Given the description of an element on the screen output the (x, y) to click on. 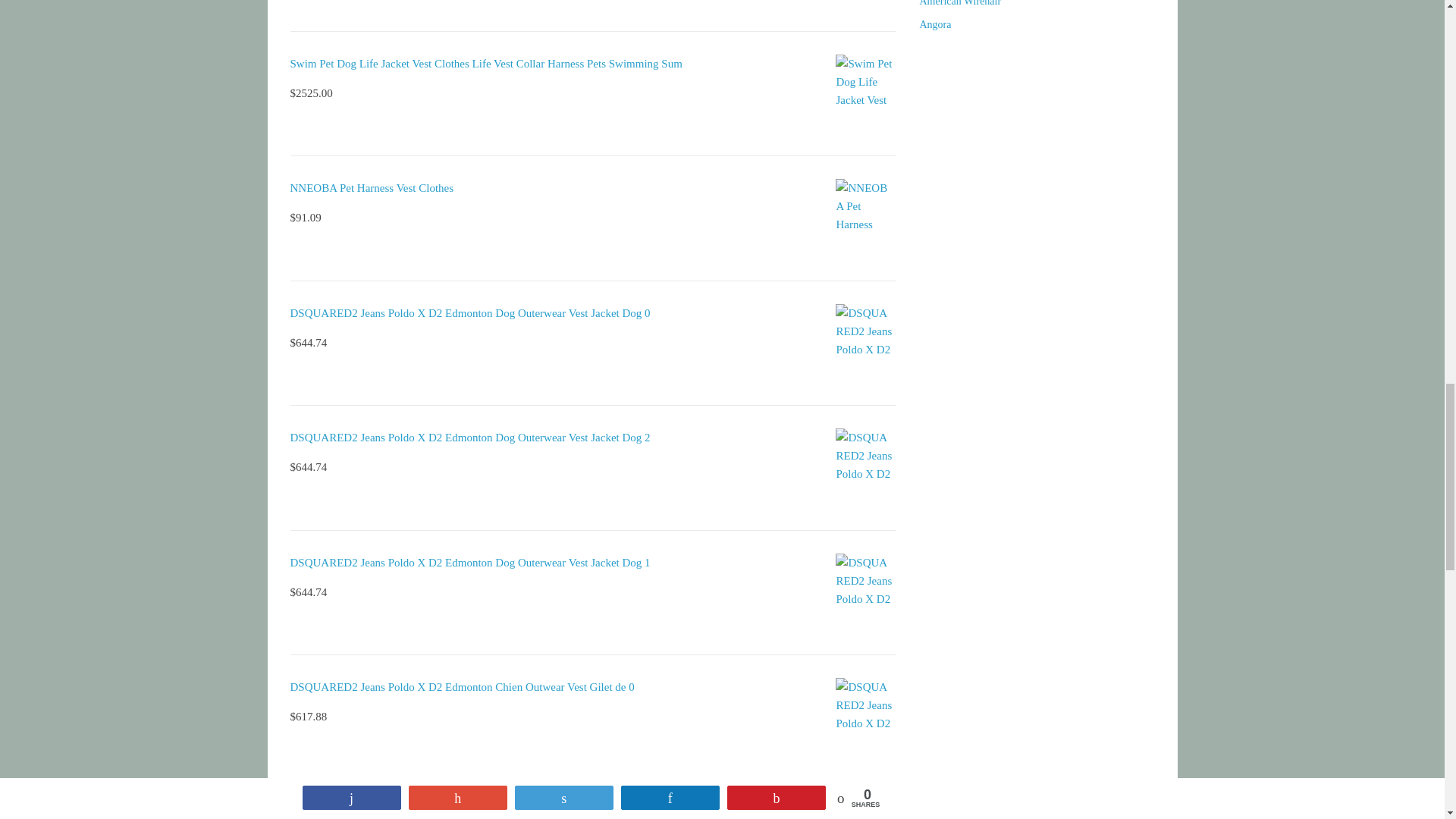
NNEOBA Pet Harness Vest Clothes (370, 187)
